Given the description of an element on the screen output the (x, y) to click on. 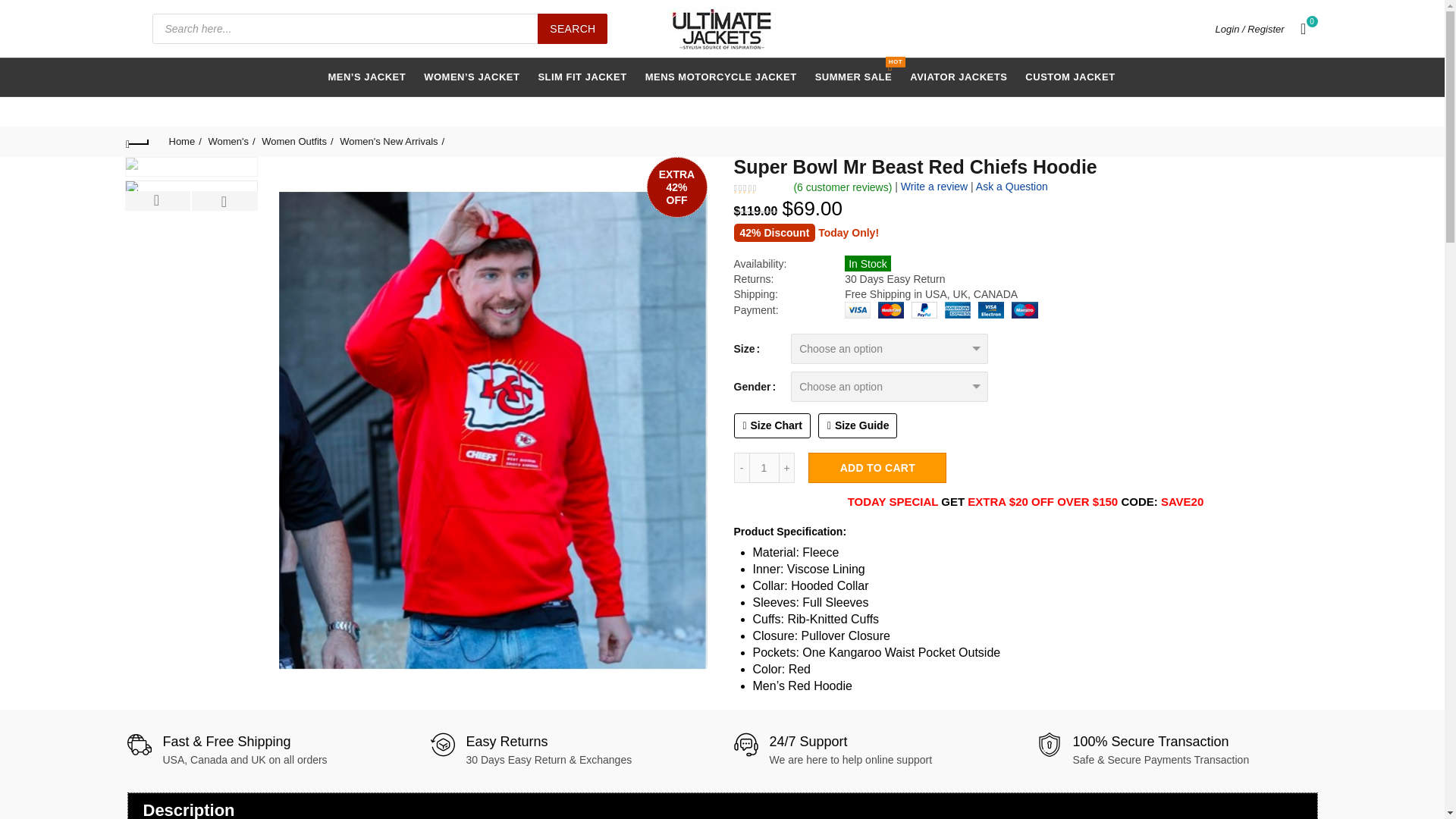
Size Chart (771, 425)
customer-support (745, 744)
Rated 5.00 out of 5 (758, 187)
SEARCH (572, 28)
SLIM FIT JACKET (581, 77)
Women Outfits (297, 141)
0 (1304, 28)
Qty (763, 467)
MENS MOTORCYCLE JACKET (720, 77)
1 (763, 467)
PREVIOUS (156, 200)
Ask a Question (1011, 186)
CUSTOM JACKET (853, 77)
NEXT (1069, 77)
